Given the description of an element on the screen output the (x, y) to click on. 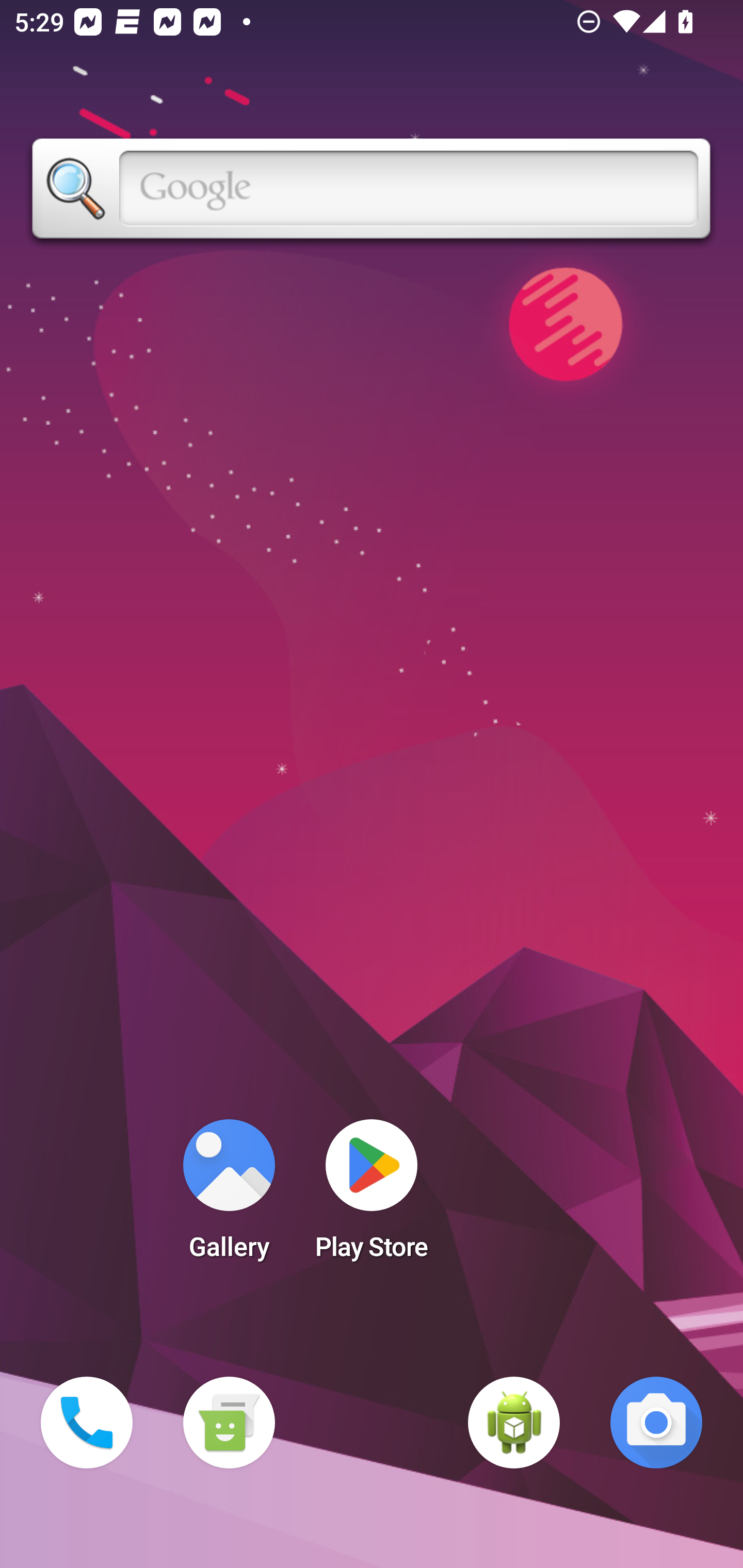
Gallery (228, 1195)
Play Store (371, 1195)
Phone (86, 1422)
Messaging (228, 1422)
WebView Browser Tester (513, 1422)
Camera (656, 1422)
